Given the description of an element on the screen output the (x, y) to click on. 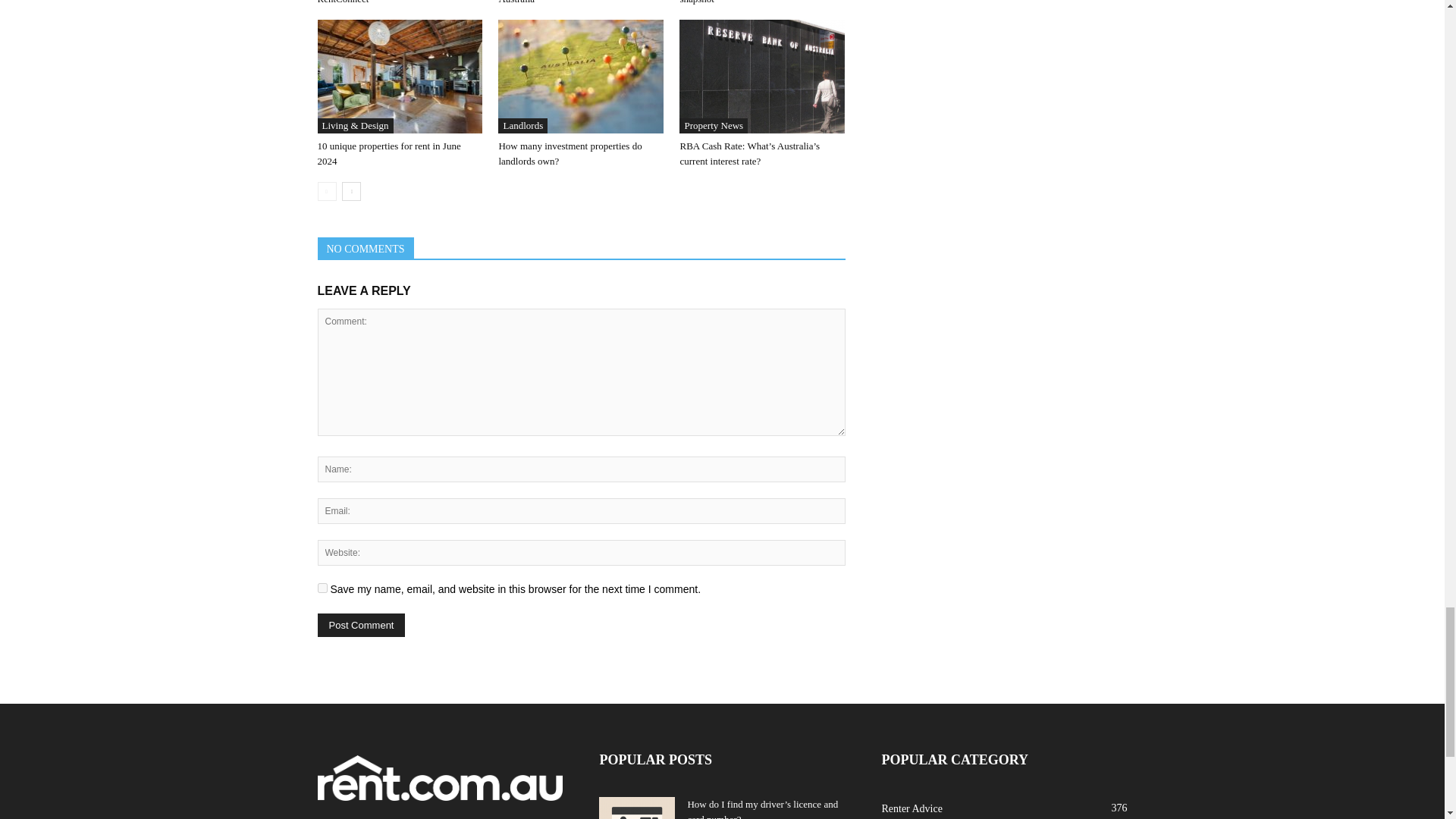
yes (321, 587)
Connect your gas and electricity with RentConnect (390, 2)
Post Comment (360, 625)
